Given the description of an element on the screen output the (x, y) to click on. 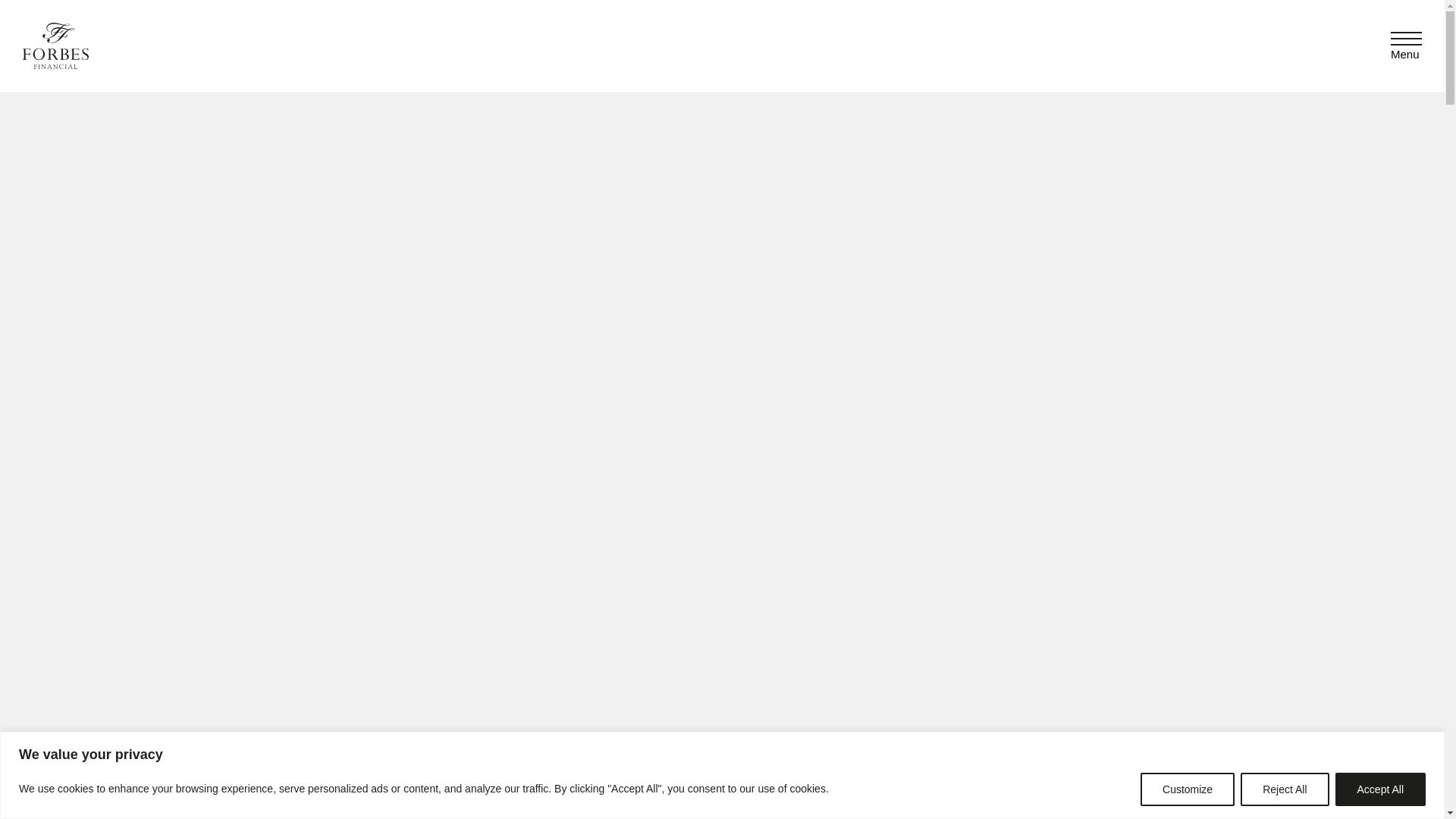
Customize (1187, 788)
Accept All (1380, 788)
Reject All (1283, 788)
